Given the description of an element on the screen output the (x, y) to click on. 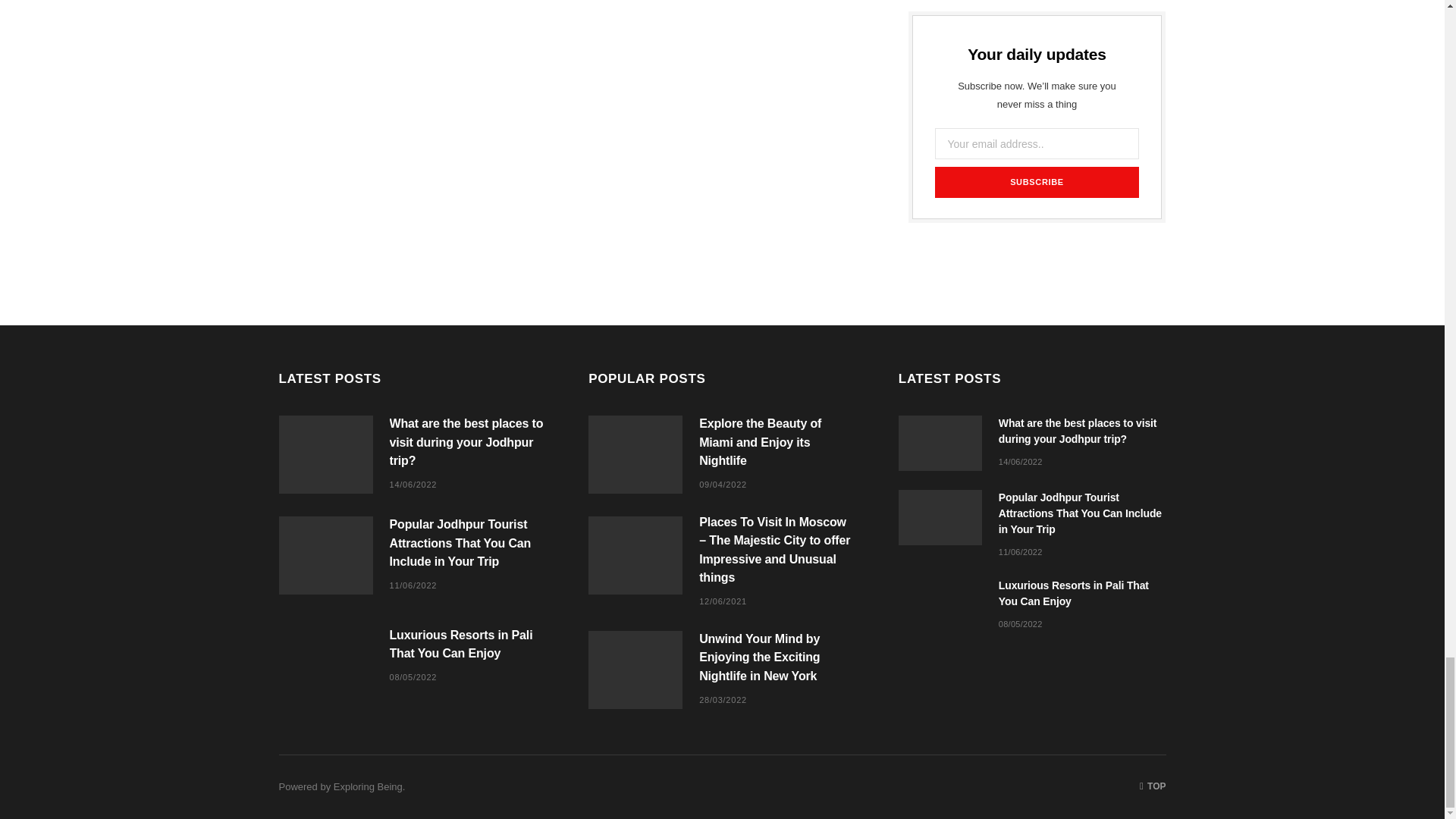
Subscribe (1036, 182)
